Given the description of an element on the screen output the (x, y) to click on. 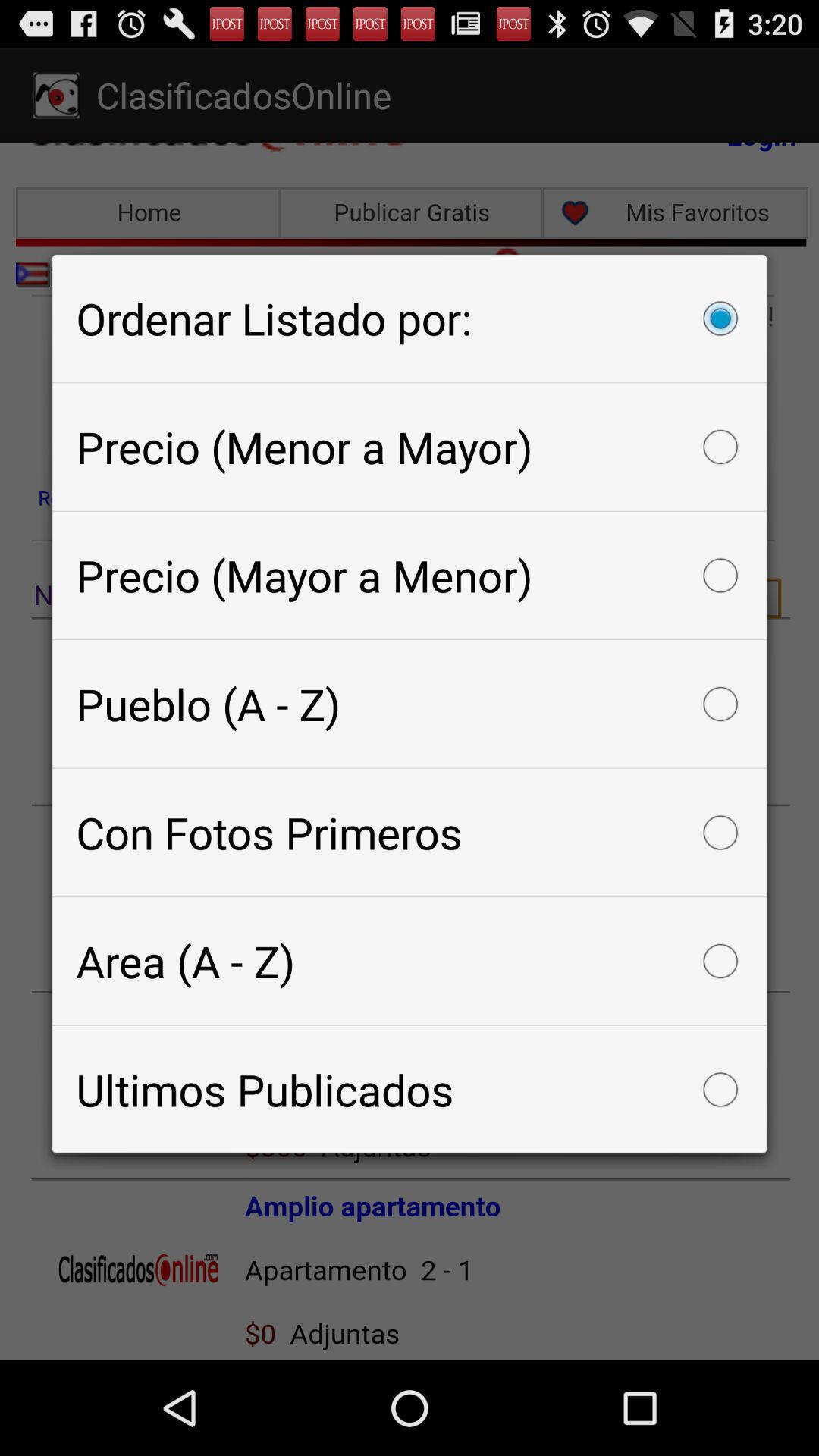
press the icon below the pueblo (a - z) checkbox (409, 832)
